Given the description of an element on the screen output the (x, y) to click on. 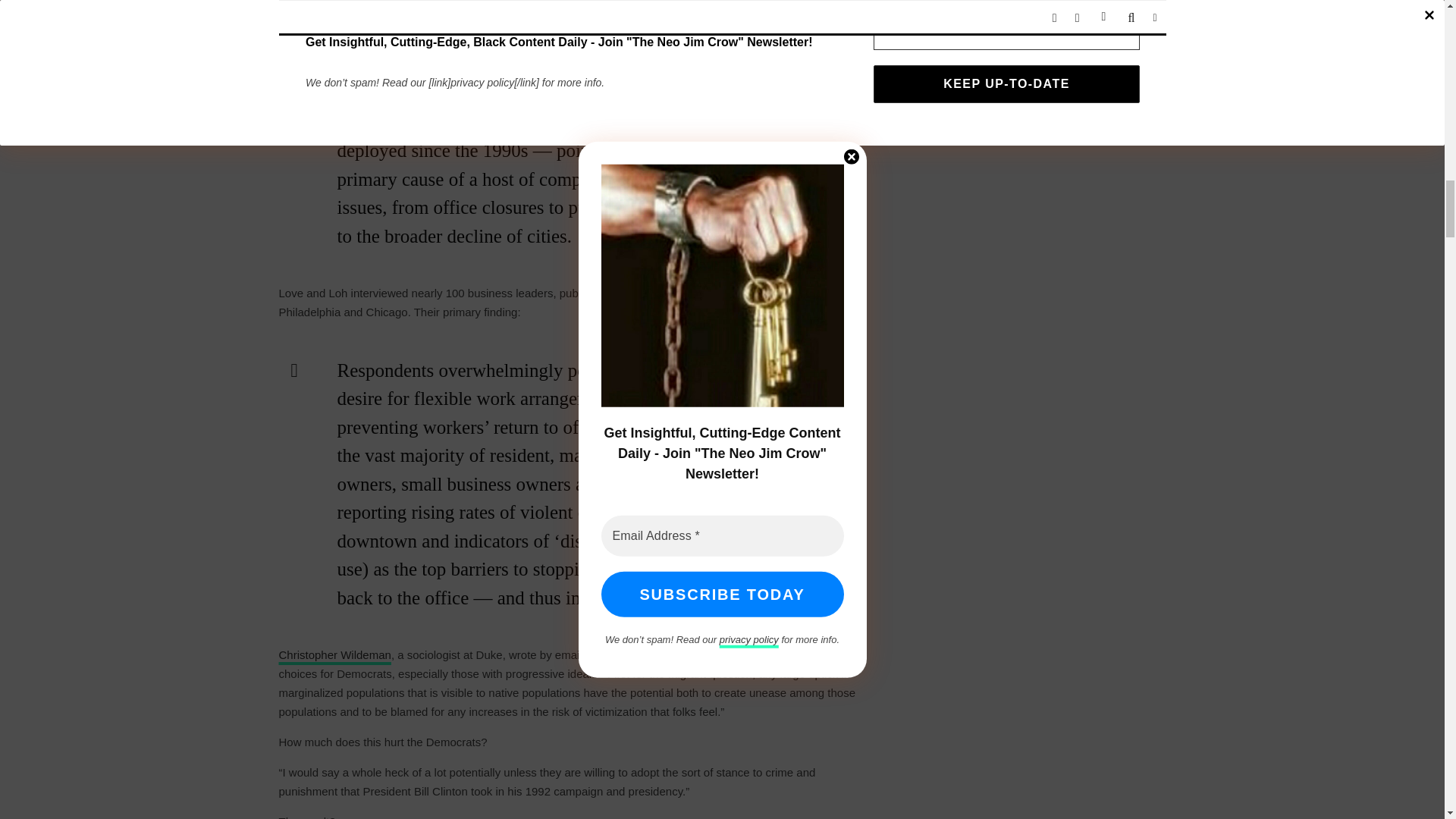
Christopher Wildeman (335, 654)
